Given the description of an element on the screen output the (x, y) to click on. 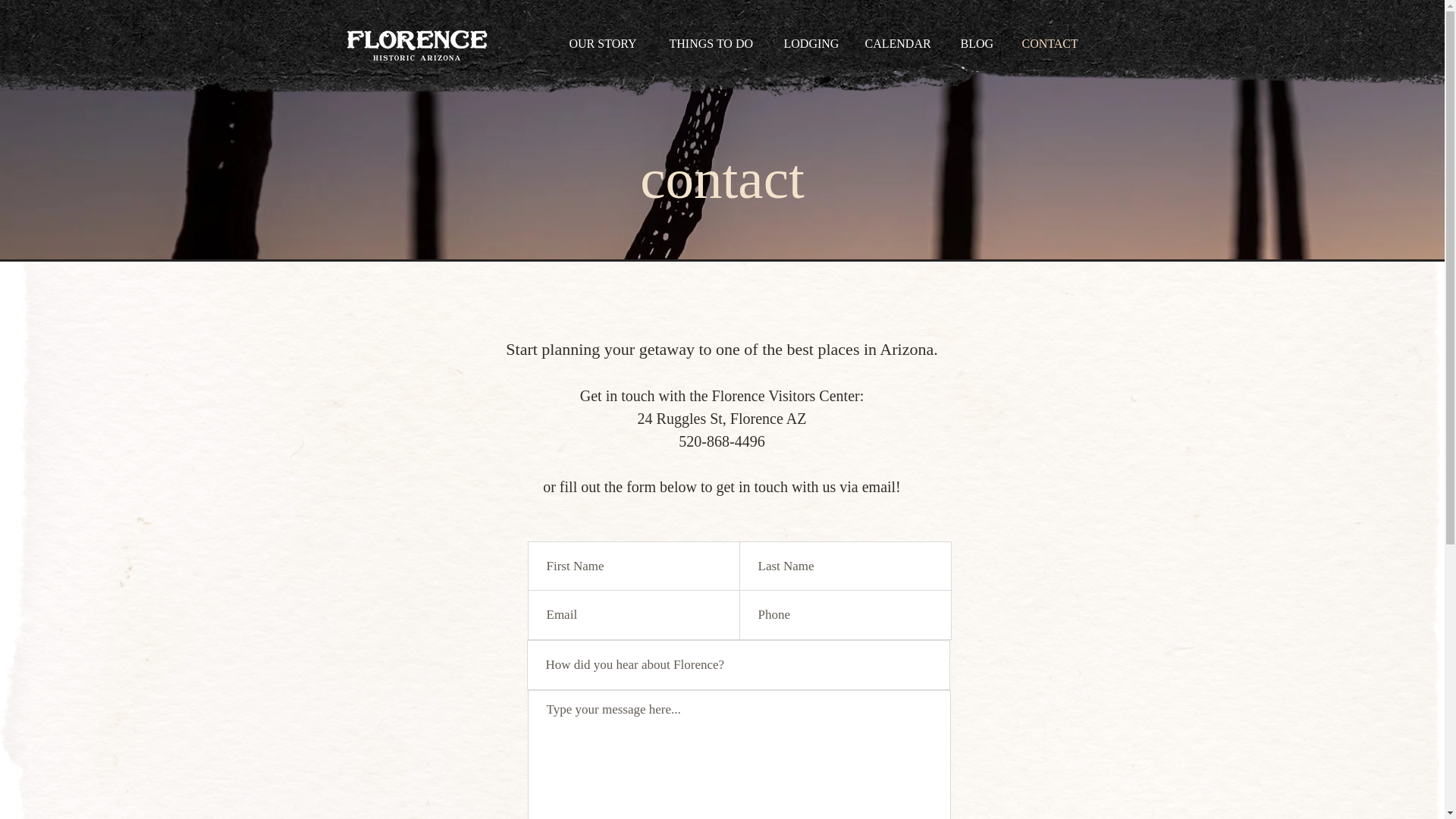
520-868-4496 (721, 441)
BLOG (979, 44)
OUR STORY (607, 44)
LODGING (812, 44)
CALENDAR (901, 44)
CONTACT (1052, 44)
THINGS TO DO (715, 44)
